Given the description of an element on the screen output the (x, y) to click on. 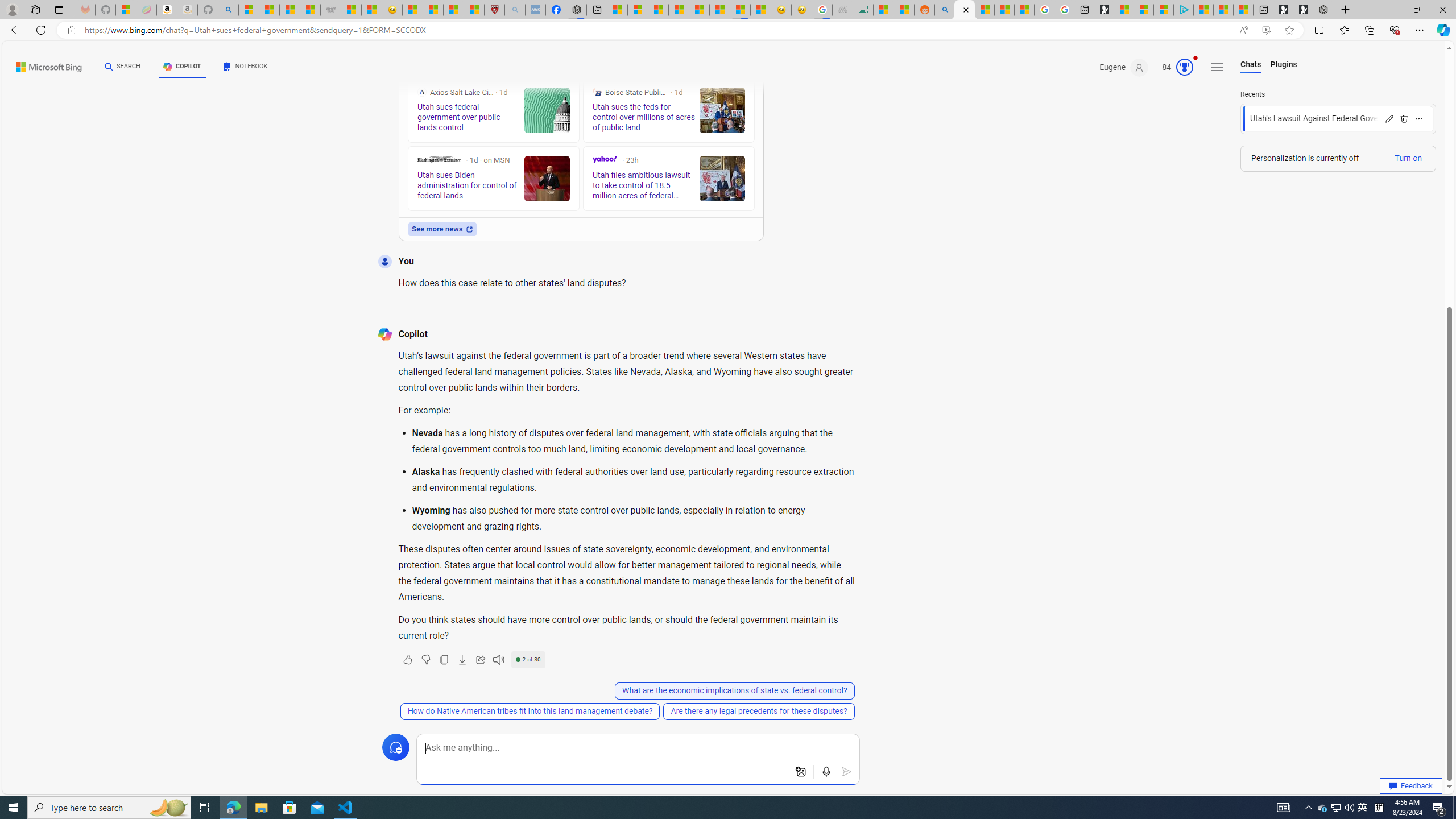
Animation (1195, 57)
Export (461, 659)
These 3 Stocks Pay You More Than 5% to Own Them (1242, 9)
Like (406, 659)
Recipes - MSN (412, 9)
Turn on (1407, 157)
Use microphone (826, 771)
Delete (1404, 118)
